Given the description of an element on the screen output the (x, y) to click on. 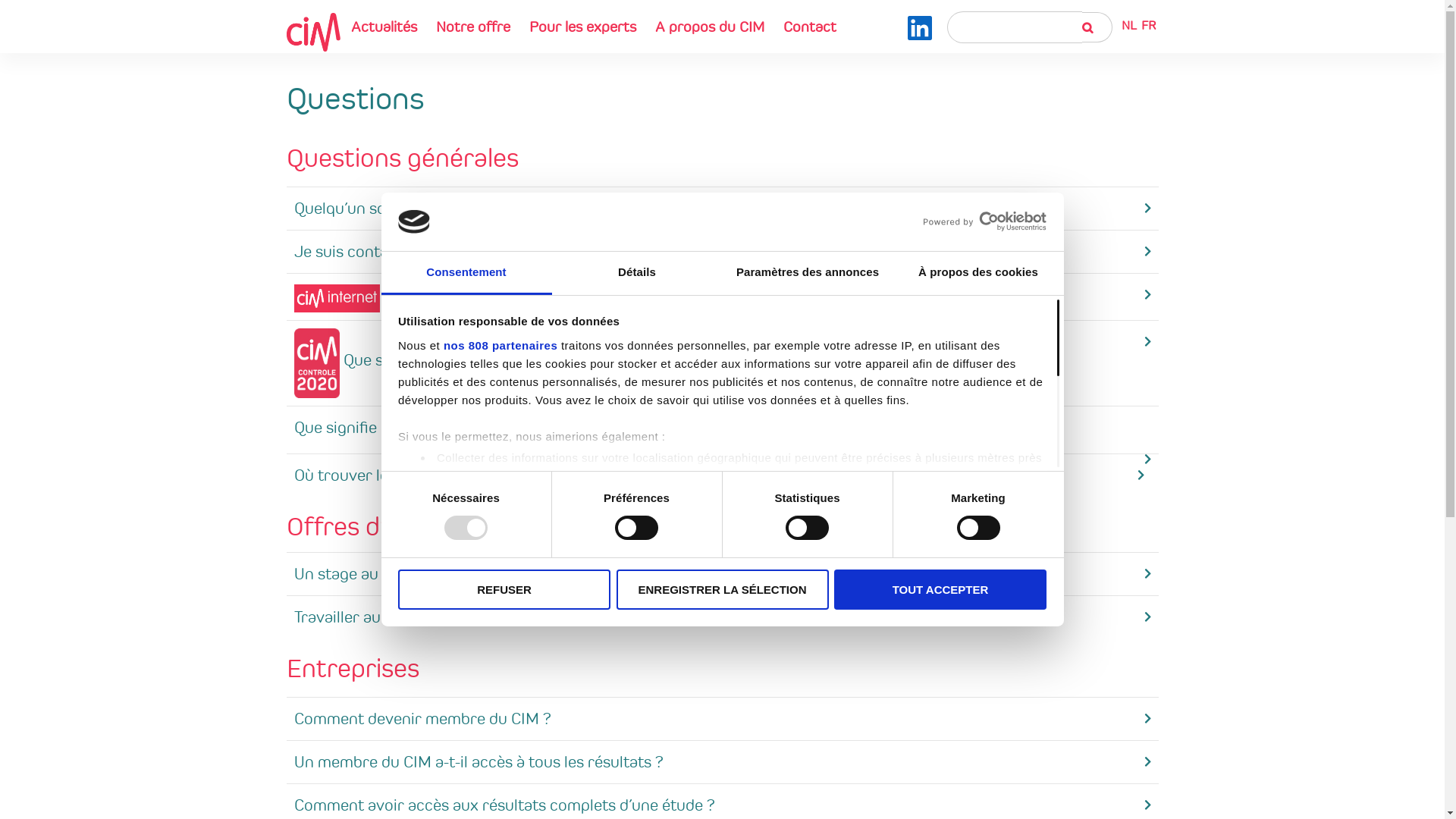
TOUT ACCEPTER Element type: text (940, 589)
Pour les experts Element type: text (581, 26)
A propos du CIM Element type: text (708, 26)
 Que signifie ce logo CIM Internet ? Element type: text (460, 294)
nos 808 partenaires Element type: text (500, 344)
Comment devenir membre du CIM ? Element type: text (422, 718)
Home Element type: hover (313, 31)
REFUSER Element type: text (504, 589)
NL Element type: text (1128, 25)
Notre offre Element type: text (473, 26)
FR Element type: text (1148, 25)
Travailler au CIM ? Element type: text (359, 616)
Un stage au CIM ? Element type: text (358, 573)
Contact Element type: text (809, 26)
Consentement Element type: text (465, 272)
